Given the description of an element on the screen output the (x, y) to click on. 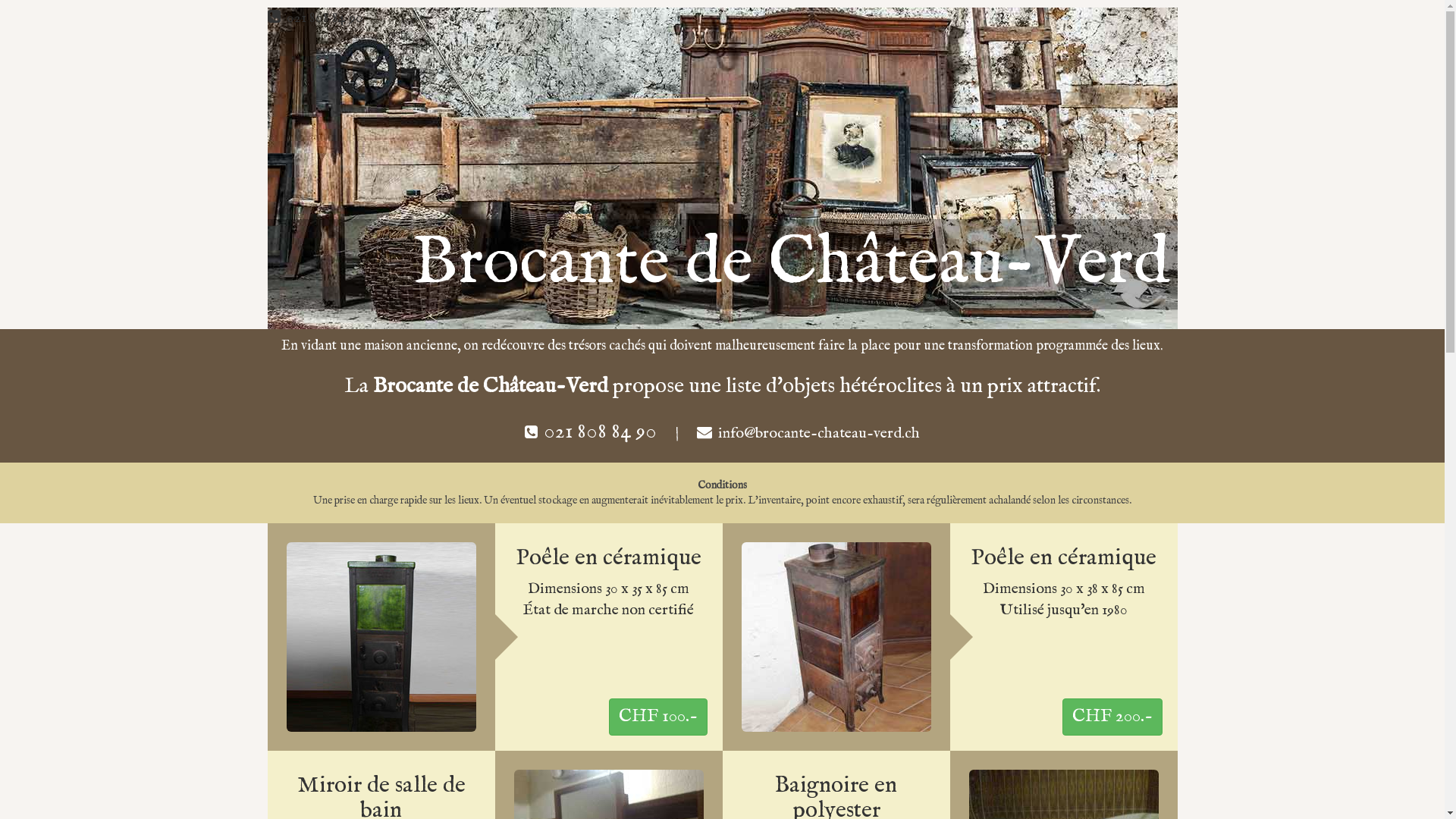
info@brocante-chateau-verd.ch Element type: text (818, 432)
